Given the description of an element on the screen output the (x, y) to click on. 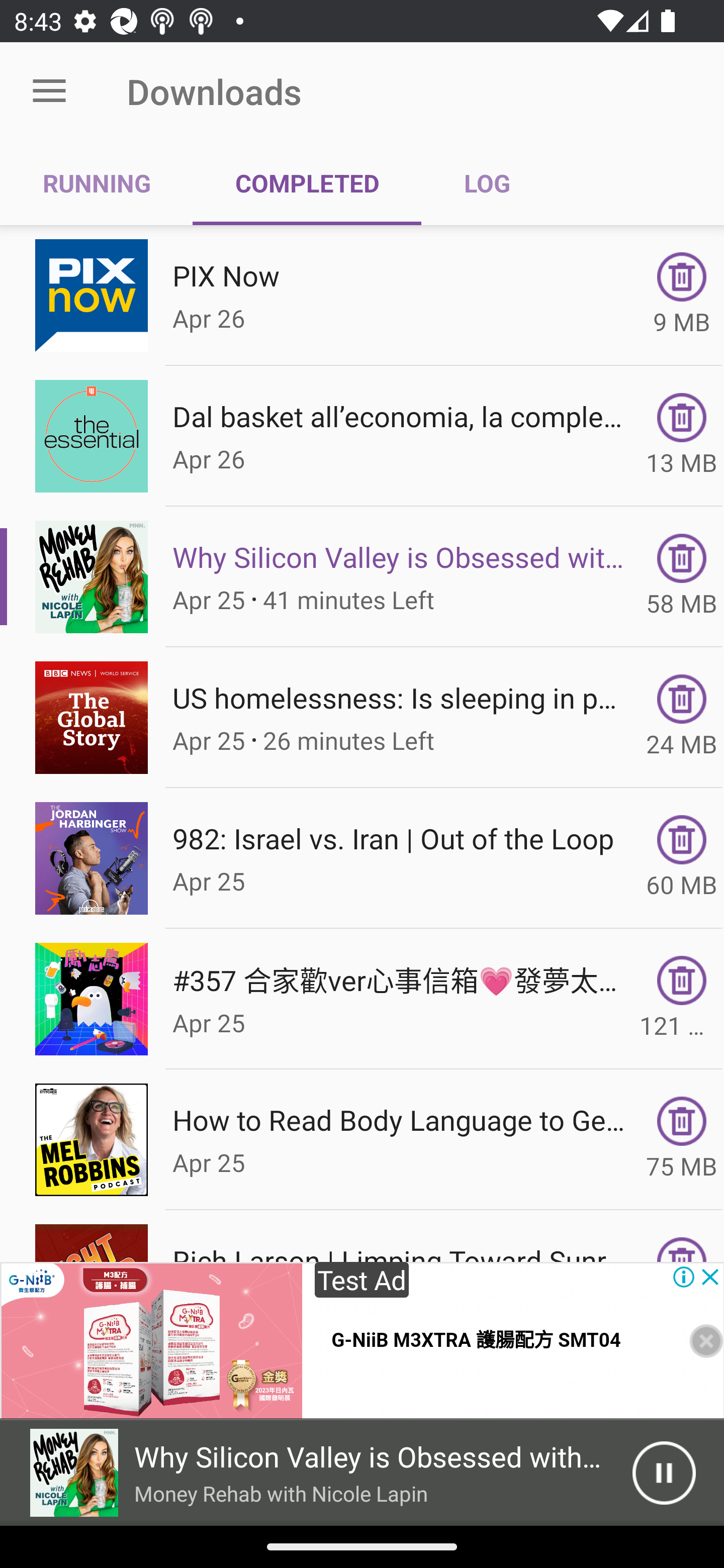
Open menu (49, 91)
RUNNING (96, 183)
COMPLETED (306, 183)
LOG (486, 183)
Picture PIX Now Apr 26 Remove Episode 9 MB (362, 295)
Remove Episode (681, 276)
Remove Episode (681, 417)
Remove Episode (681, 558)
Remove Episode (681, 699)
Remove Episode (681, 839)
Remove Episode (681, 980)
Remove Episode (681, 1121)
G-NiiB M3XTRA 護腸配方 SMT04 (475, 1340)
Pause (663, 1472)
